Given the description of an element on the screen output the (x, y) to click on. 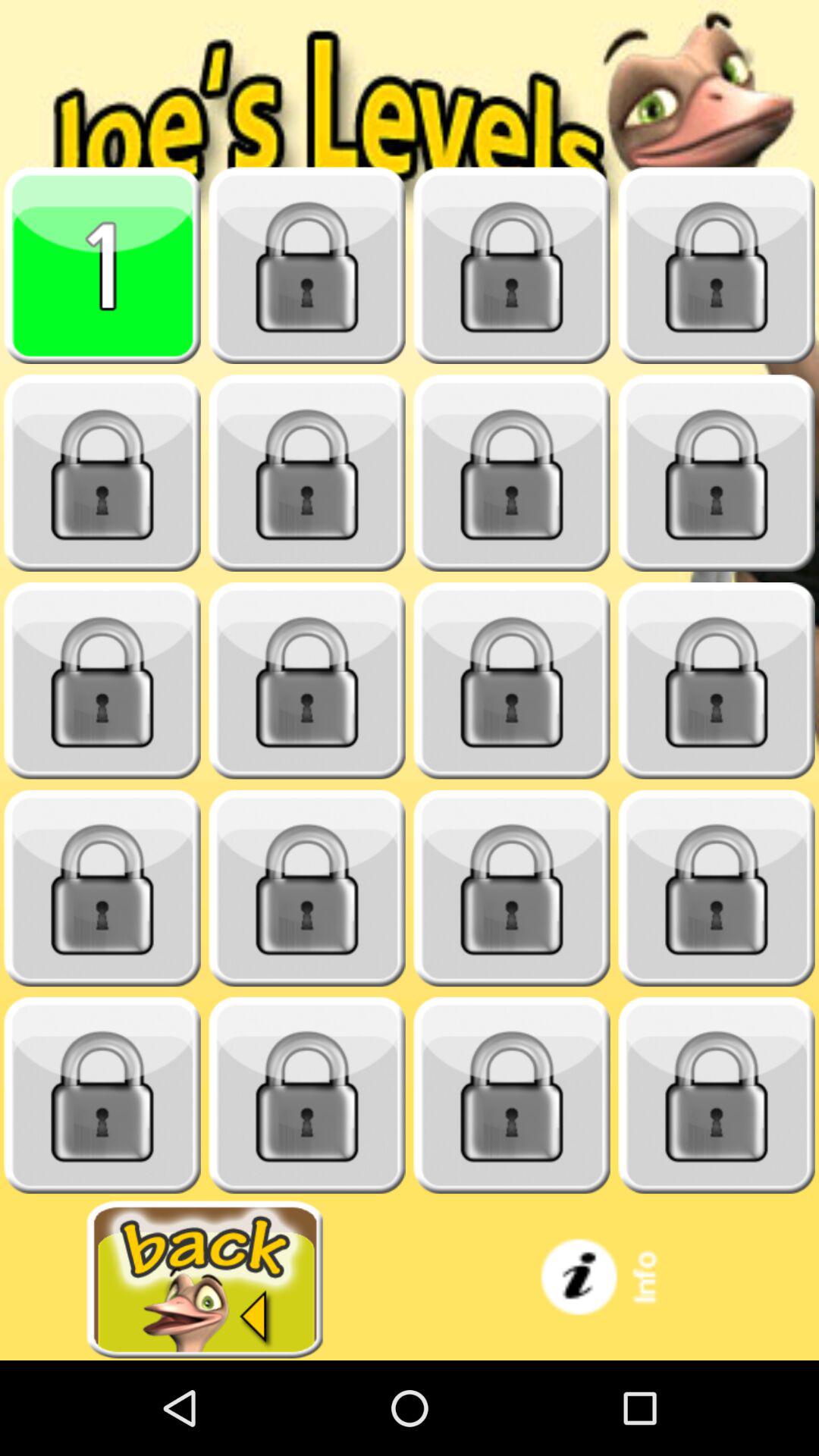
locked level (511, 1094)
